Given the description of an element on the screen output the (x, y) to click on. 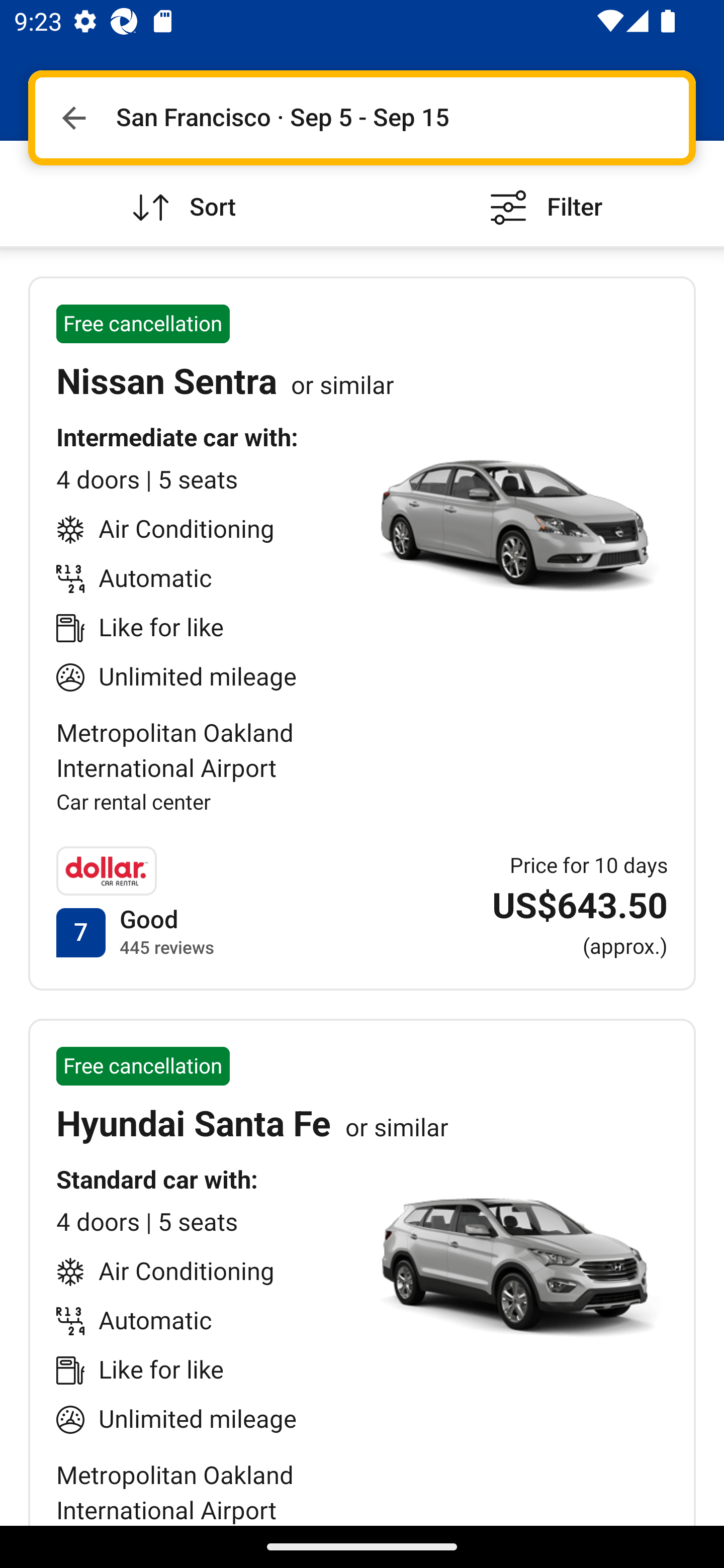
Back to previous screen (73, 117)
Sort (181, 193)
Filter (543, 193)
